Given the description of an element on the screen output the (x, y) to click on. 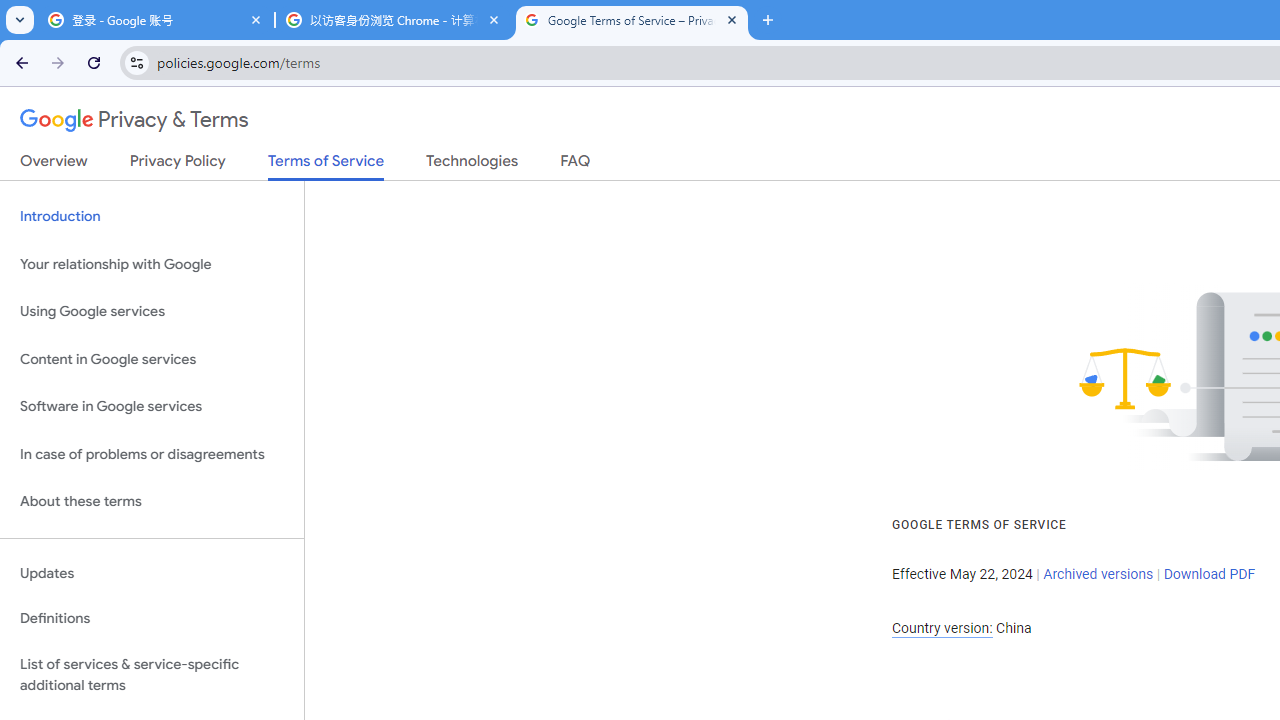
Your relationship with Google (152, 263)
Software in Google services (152, 407)
Archived versions (1098, 574)
Content in Google services (152, 358)
Using Google services (152, 312)
Country version: (942, 628)
